Given the description of an element on the screen output the (x, y) to click on. 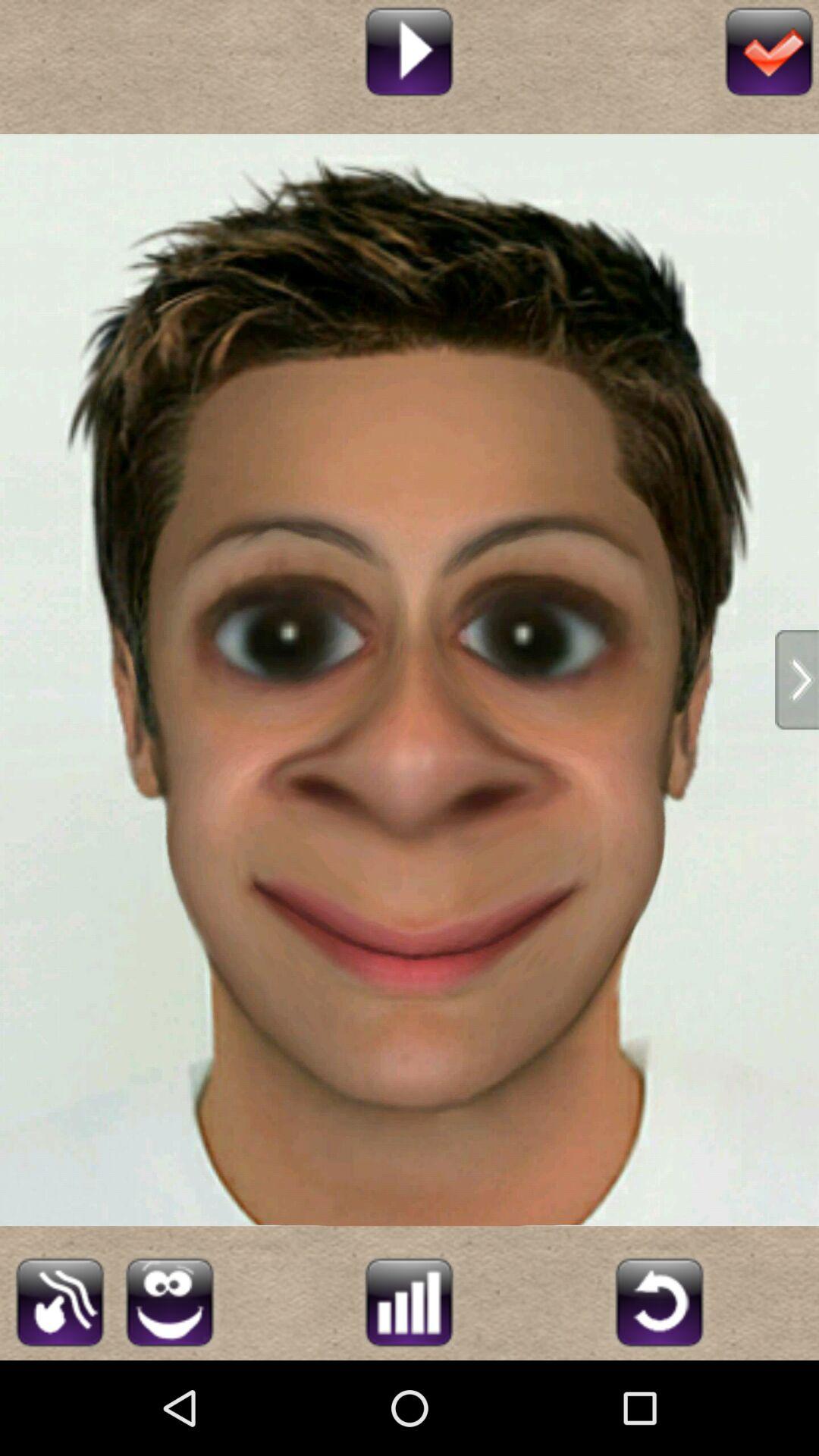
play (408, 49)
